Given the description of an element on the screen output the (x, y) to click on. 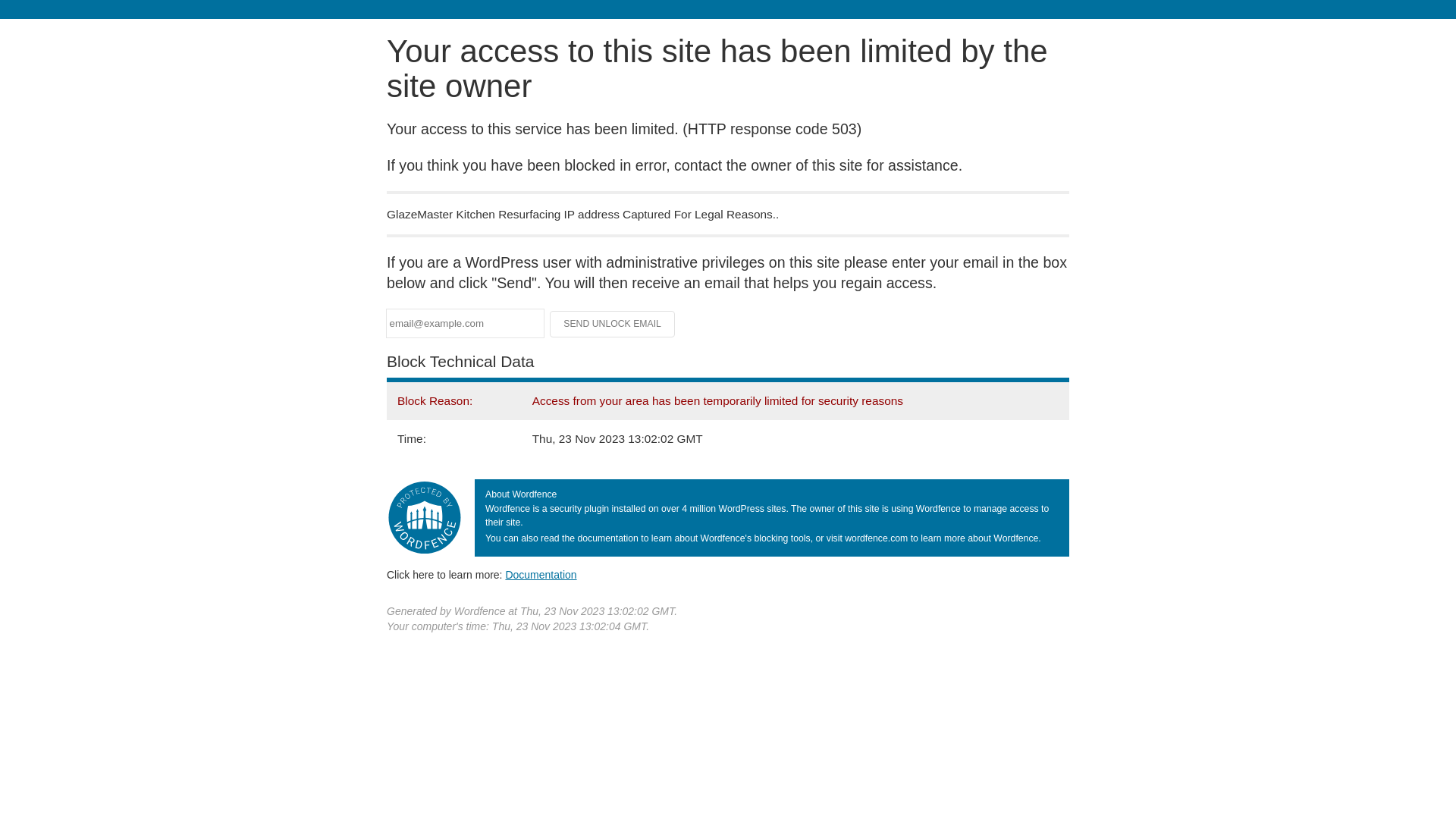
Documentation
(opens in new tab) Element type: text (540, 574)
Send Unlock Email Element type: text (612, 323)
